Given the description of an element on the screen output the (x, y) to click on. 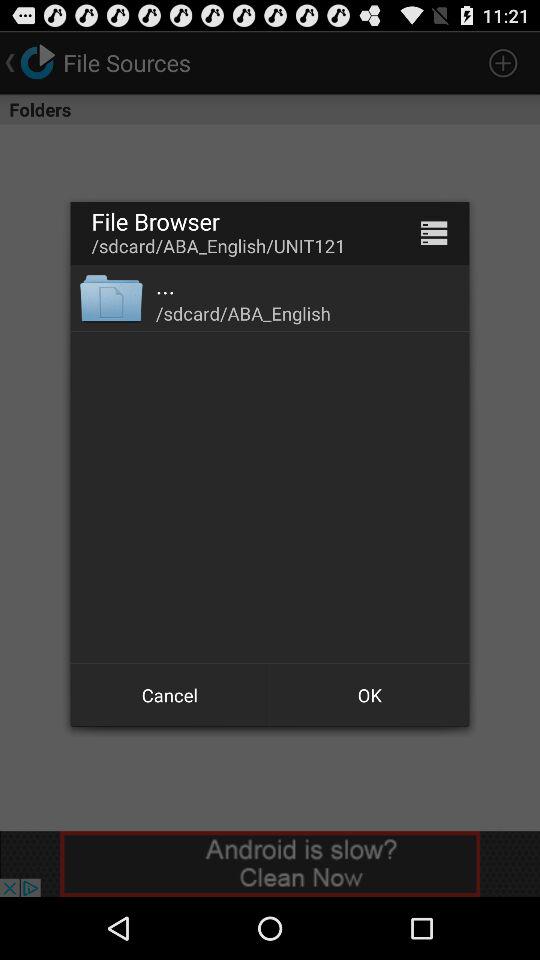
press cancel icon (169, 694)
